Given the description of an element on the screen output the (x, y) to click on. 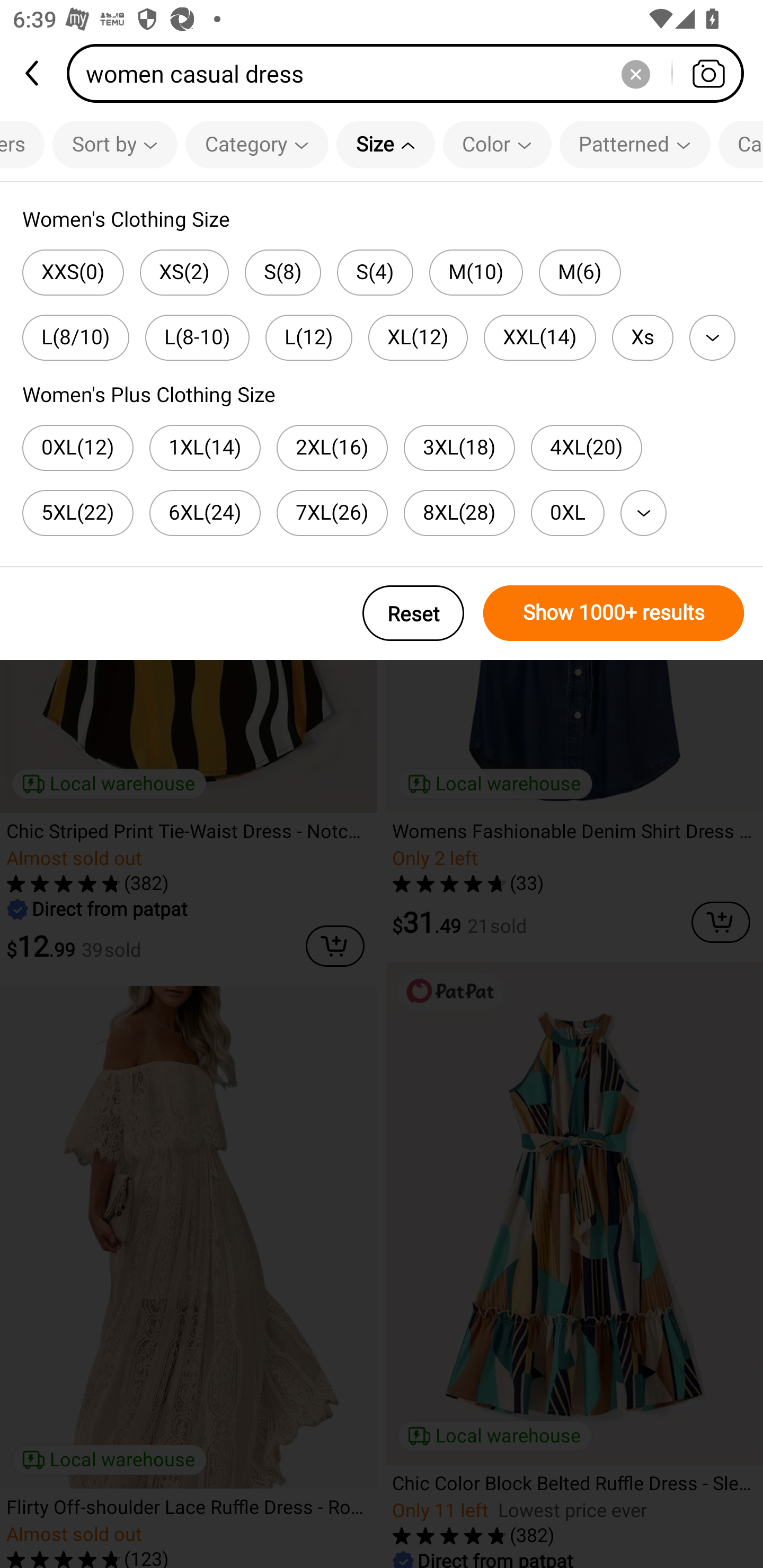
back (33, 72)
women casual dress (411, 73)
Delete search history (635, 73)
Search by photo (708, 73)
Sort by (114, 143)
Category (256, 143)
Size (385, 143)
Color (497, 143)
Patterned (634, 143)
XXS(0) (72, 272)
XS(2) (183, 272)
S(8) (282, 272)
S(4) (375, 272)
M(10) (475, 272)
M(6) (579, 272)
L(8/10) (75, 337)
L(8-10) (196, 337)
L(12) (308, 337)
XL(12) (417, 337)
XXL(14) (539, 337)
Xs (642, 337)
More (711, 337)
0XL(12) (77, 447)
1XL(14) (204, 447)
2XL(16) (331, 447)
3XL(18) (459, 447)
4XL(20) (586, 447)
5XL(22) (77, 512)
6XL(24) (204, 512)
7XL(26) (331, 512)
8XL(28) (459, 512)
0XL (567, 512)
More (643, 512)
Reset (412, 612)
Show 1000+ results (612, 612)
